Given the description of an element on the screen output the (x, y) to click on. 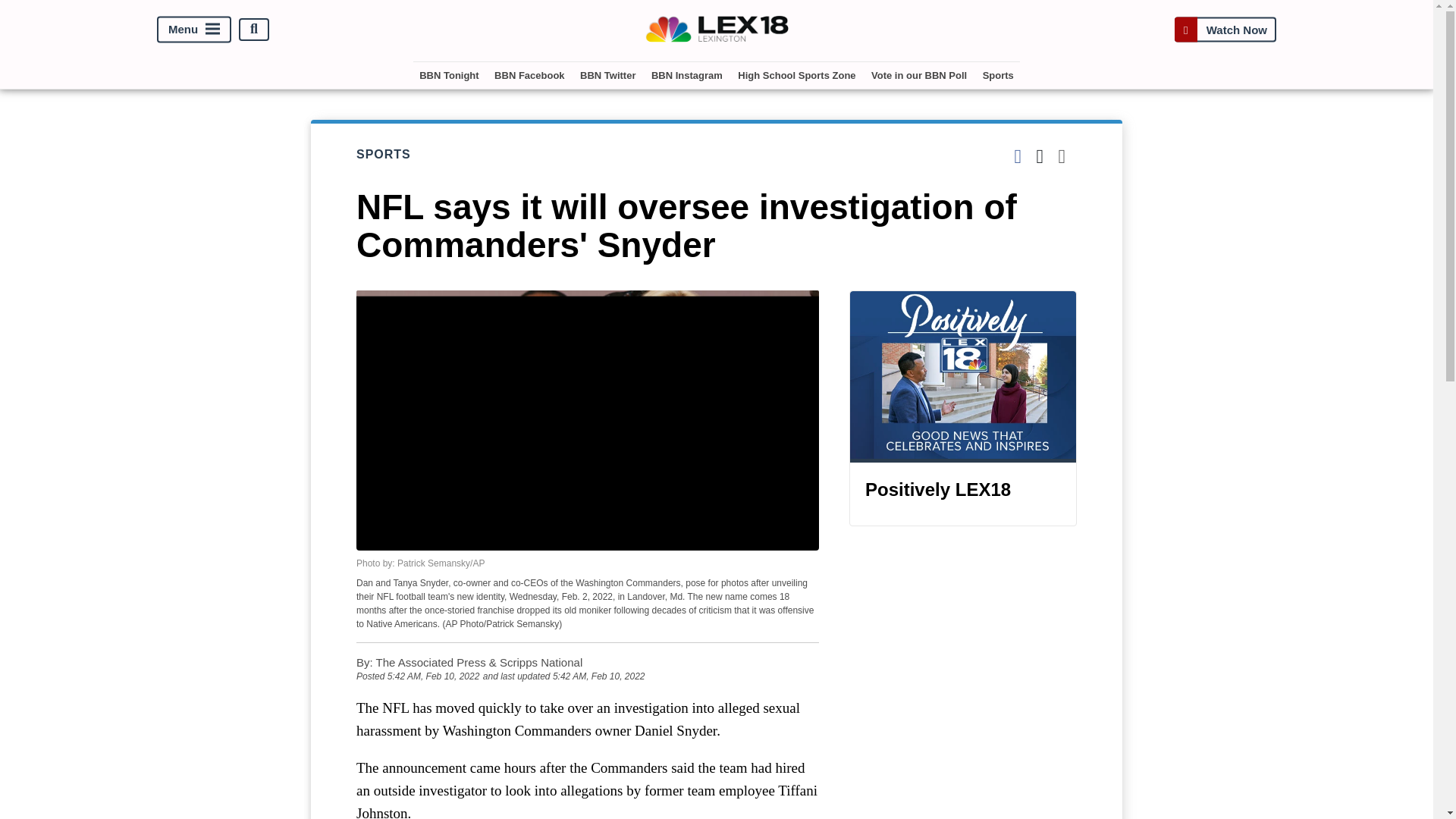
Menu (194, 28)
Watch Now (1224, 29)
